Given the description of an element on the screen output the (x, y) to click on. 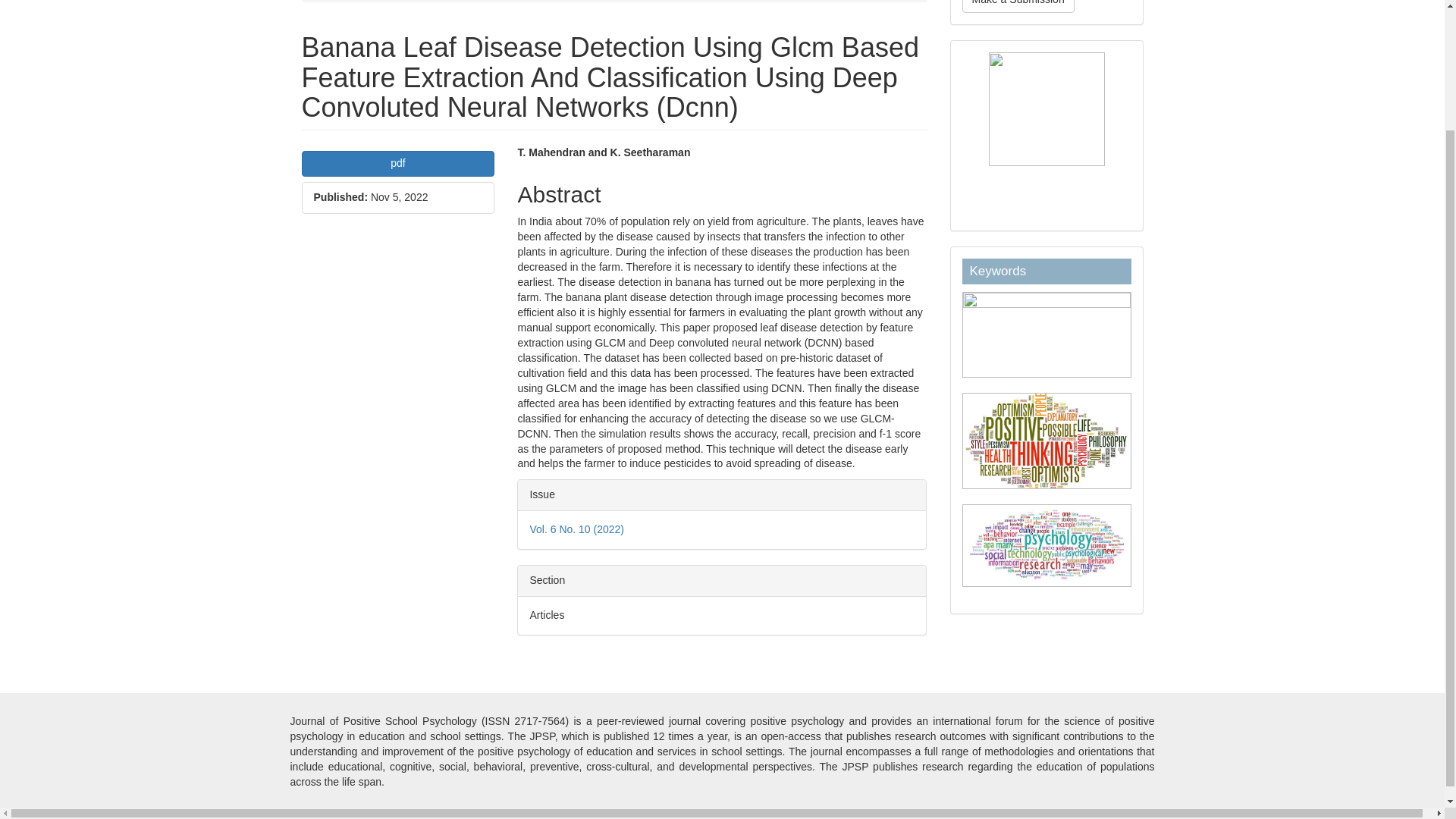
pdf (398, 163)
Make a Submission (1017, 6)
